Given the description of an element on the screen output the (x, y) to click on. 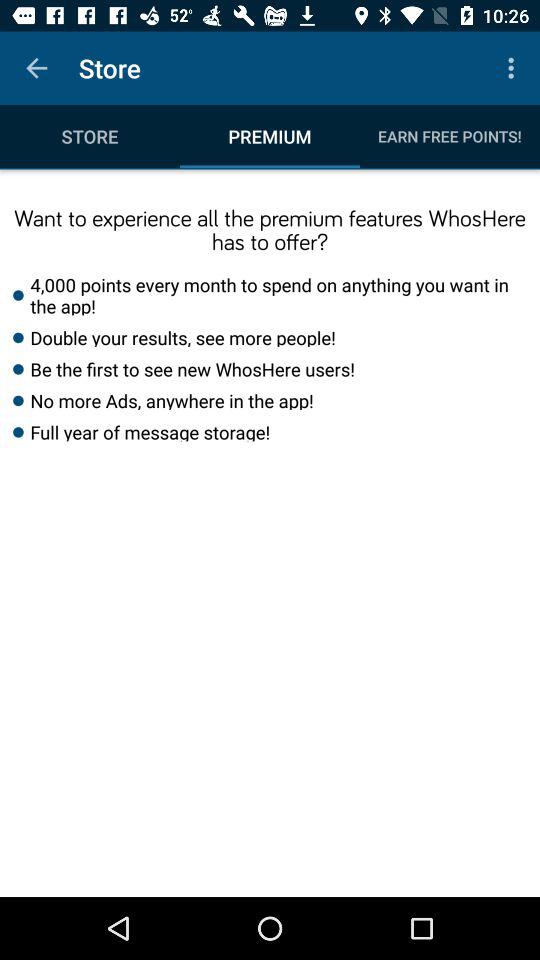
turn on icon above earn free points! icon (513, 67)
